Given the description of an element on the screen output the (x, y) to click on. 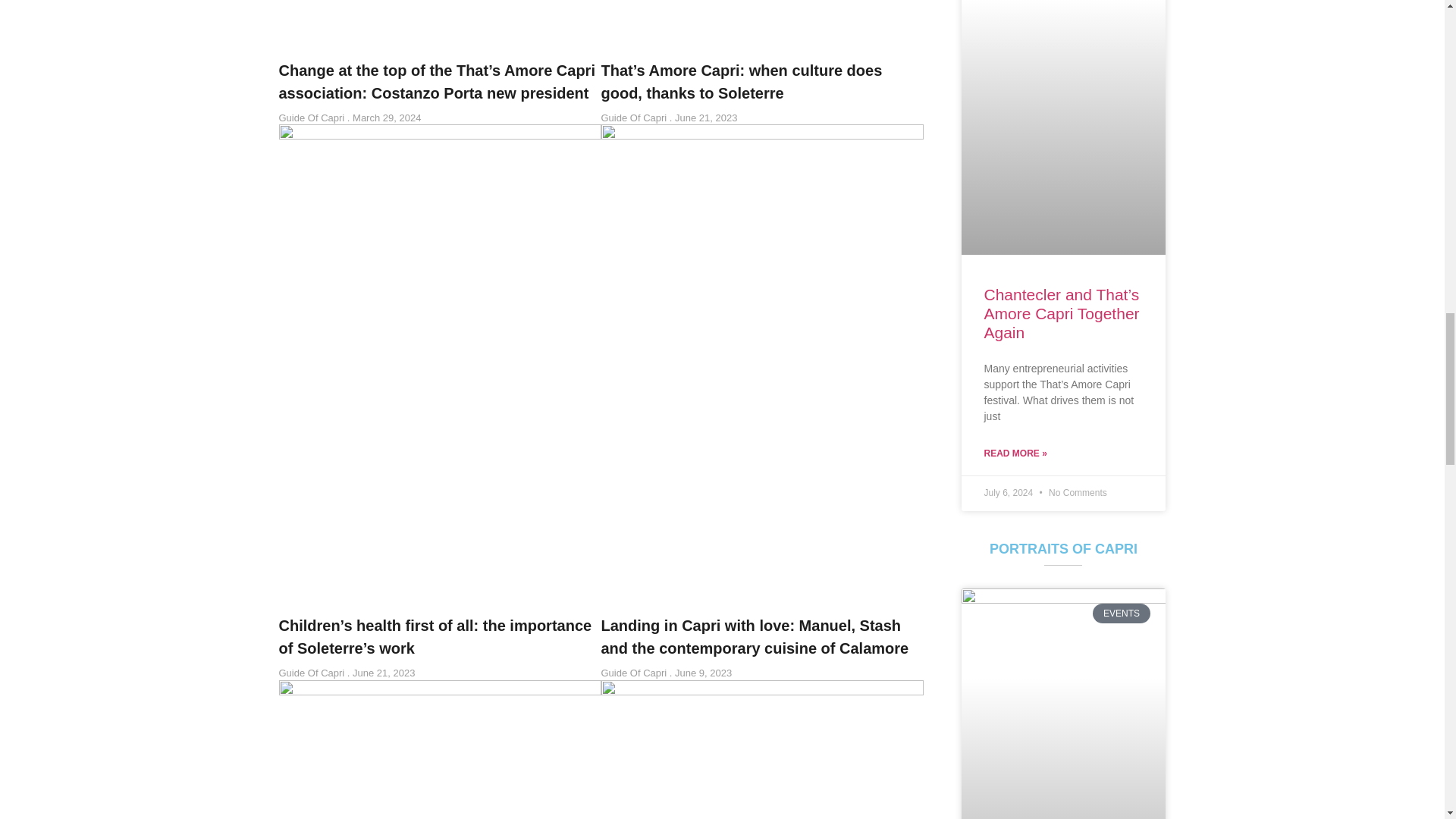
PORTRAITS OF CAPRI (1063, 534)
